Given the description of an element on the screen output the (x, y) to click on. 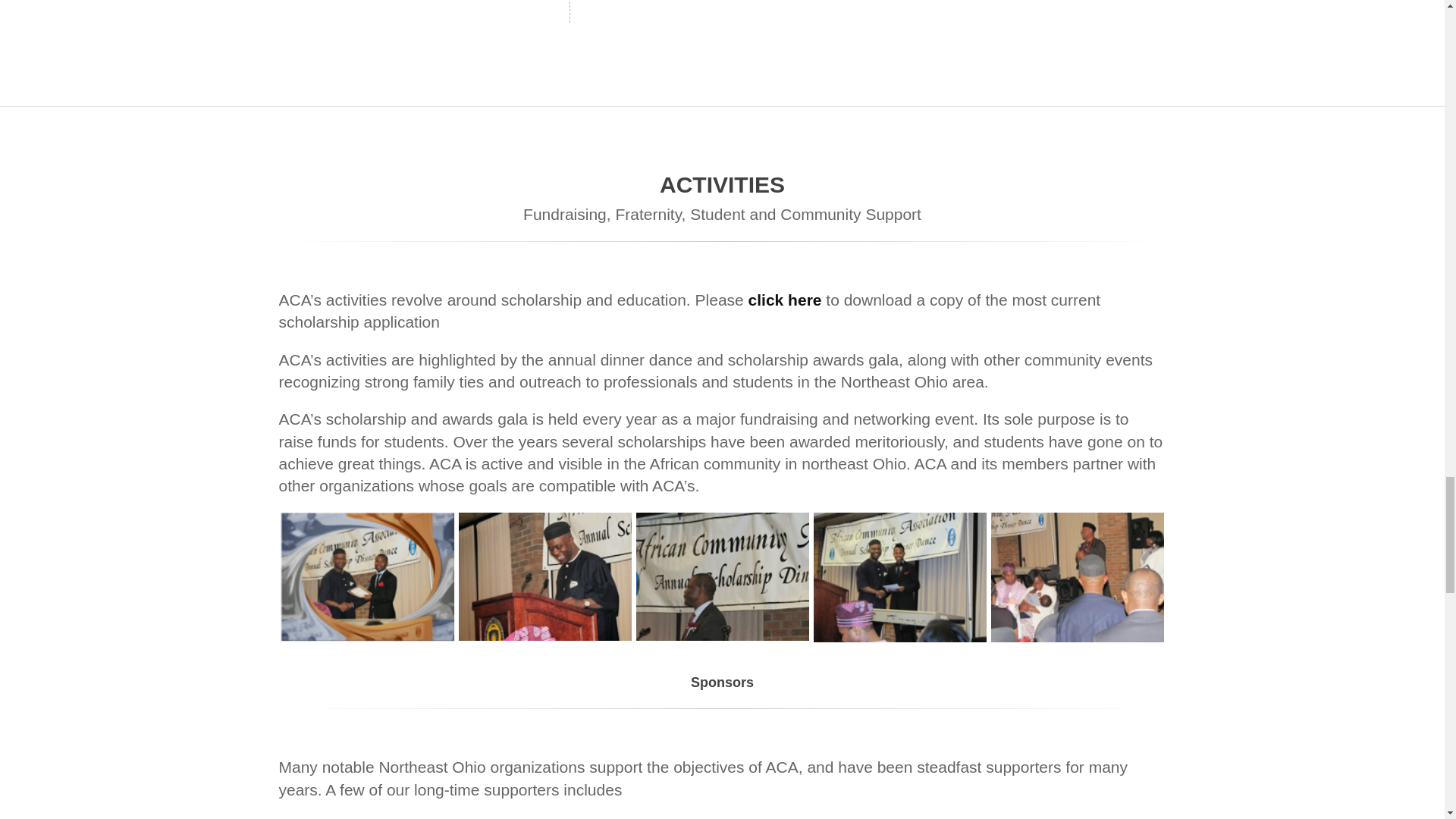
click here (785, 299)
